Given the description of an element on the screen output the (x, y) to click on. 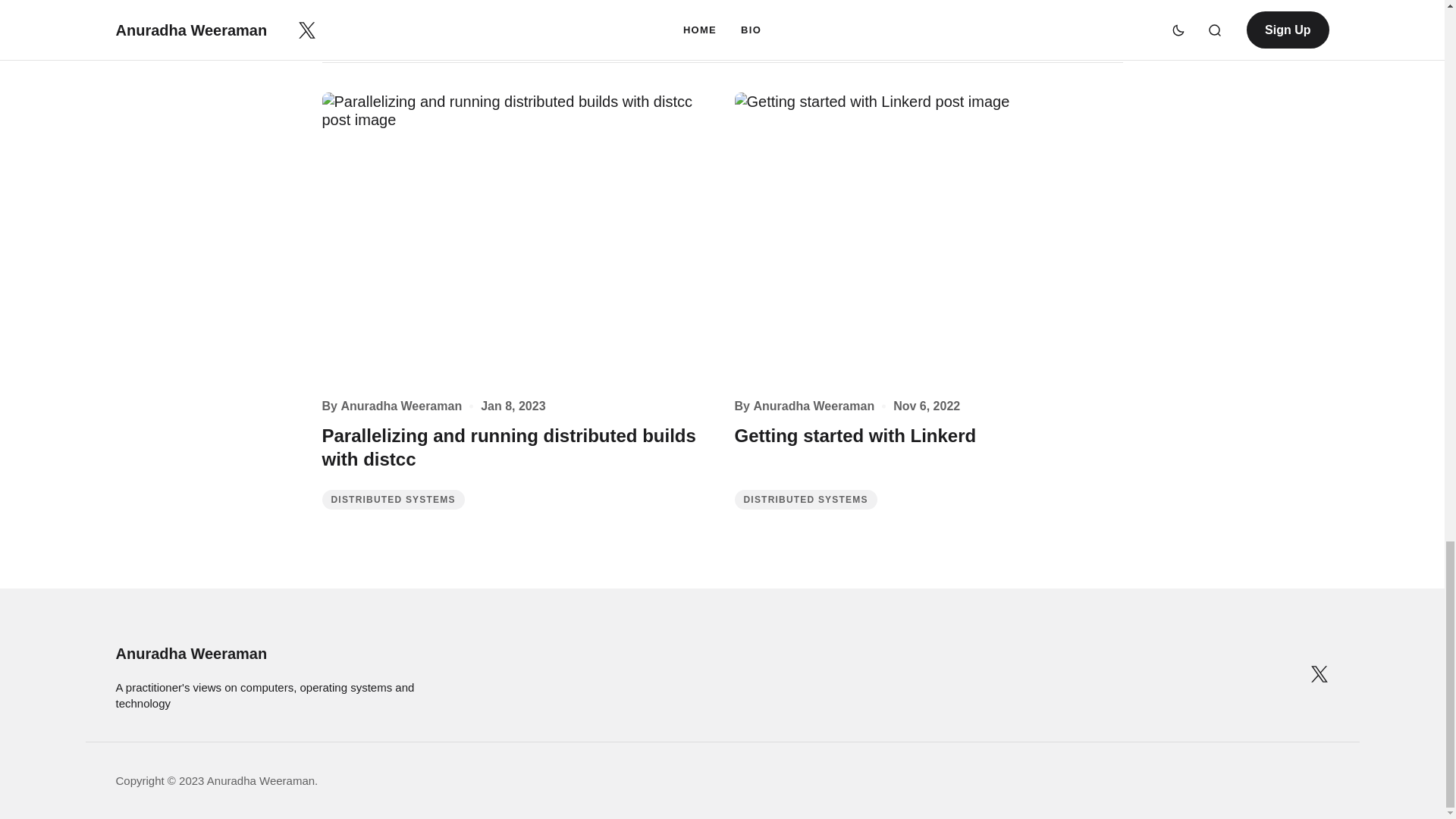
LINUX (511, 21)
SOFTWARE FREEDOM (415, 21)
UNIX (564, 21)
